Given the description of an element on the screen output the (x, y) to click on. 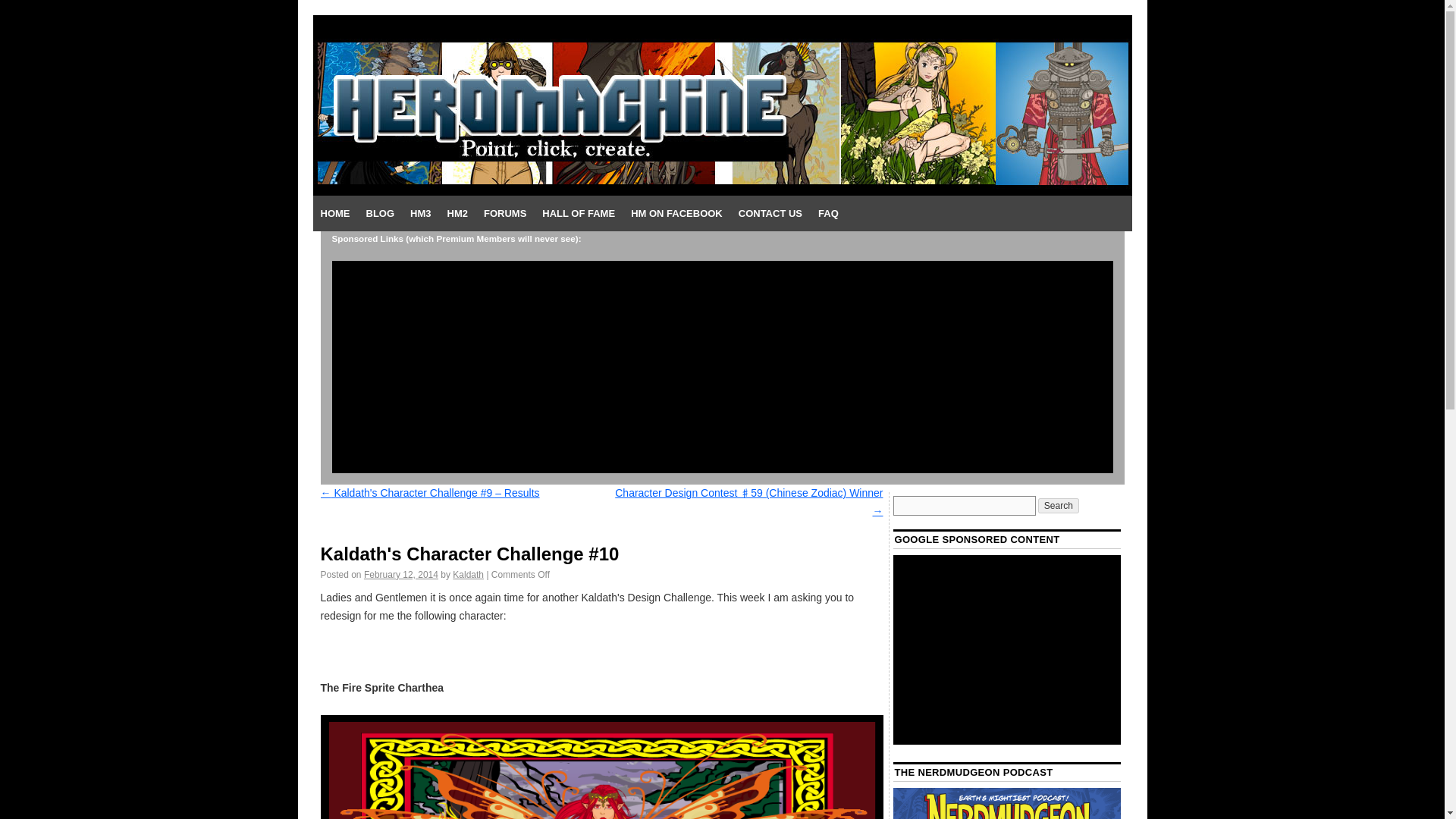
HM ON FACEBOOK (676, 213)
Search (1058, 505)
Kaldath (467, 574)
View all posts by Kaldath (467, 574)
HM2 (457, 213)
HM3 (420, 213)
FORUMS (505, 213)
CONTACT US (769, 213)
February 12, 2014 (401, 574)
Search (1058, 505)
BLOG (379, 213)
HALL OF FAME (578, 213)
FAQ (827, 213)
HOME (334, 213)
